Given the description of an element on the screen output the (x, y) to click on. 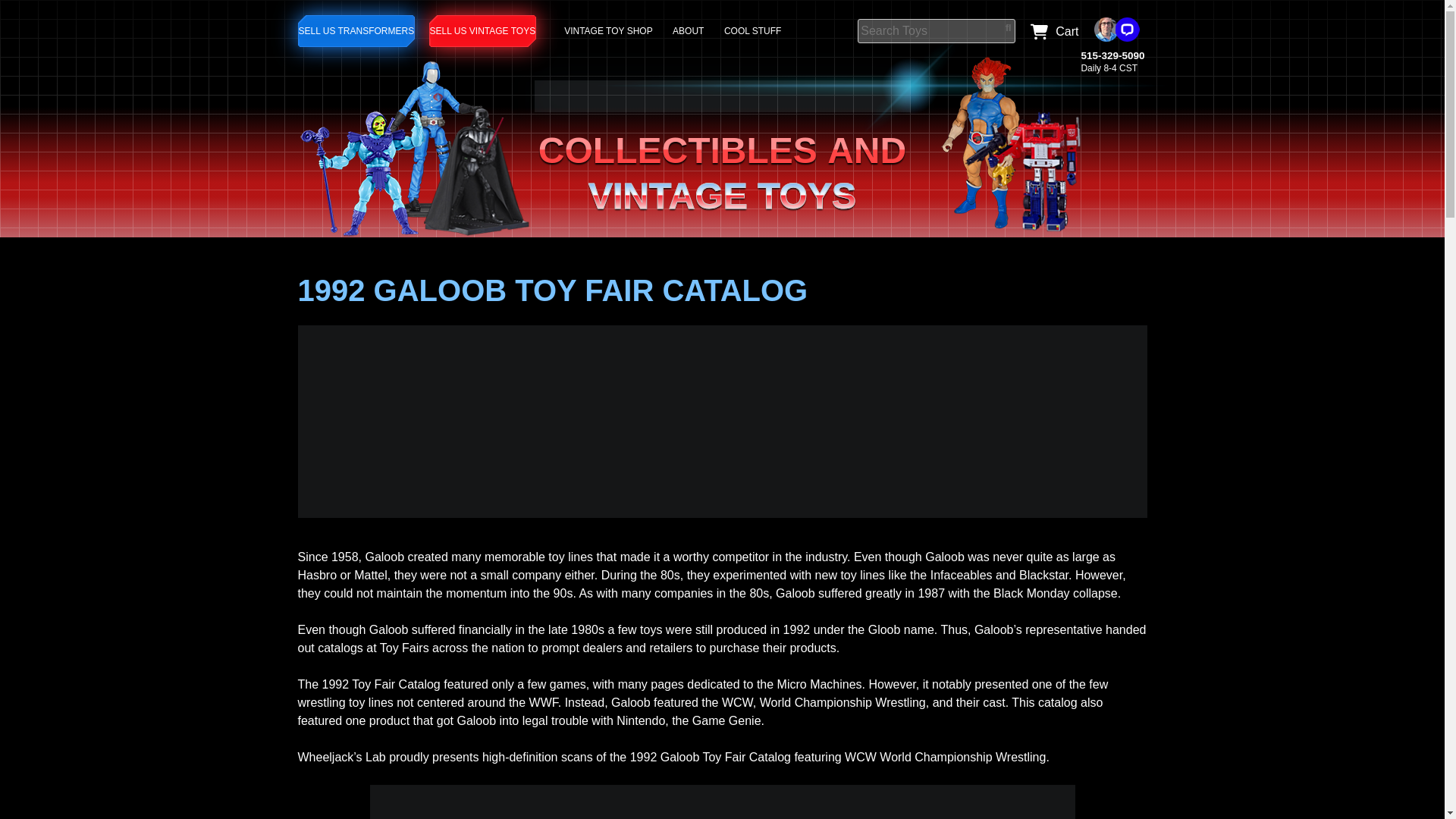
Cart (1050, 30)
Wheeljack's Lab (722, 107)
SELL US TRANSFORMERS (355, 30)
Live Chat (1116, 28)
View Cart (1050, 30)
COOL STUFF   (754, 30)
515-329-5090 (1112, 55)
SELL US VINTAGE TOYS (483, 30)
Sell Us Vintage Toys (483, 30)
ABOUT   (690, 30)
